Given the description of an element on the screen output the (x, y) to click on. 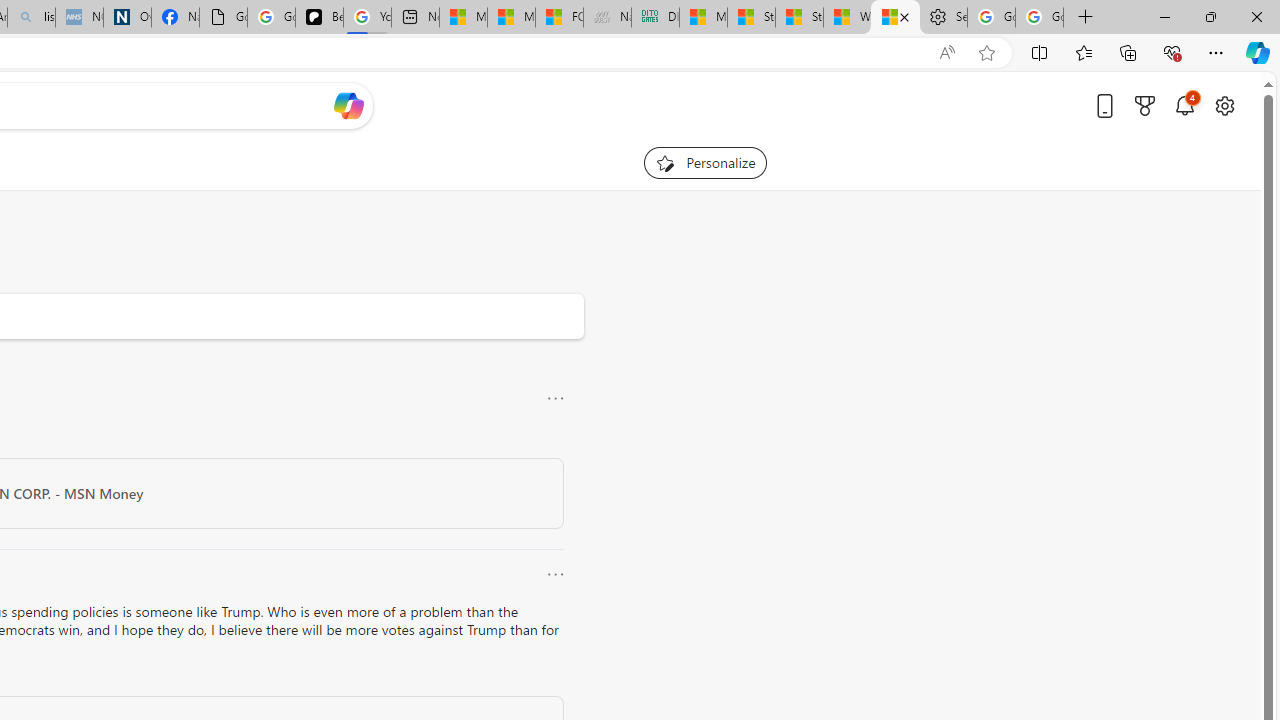
FOX News - MSN (559, 17)
R******* | Trusted Community Engagement and Contributions (895, 17)
